Given the description of an element on the screen output the (x, y) to click on. 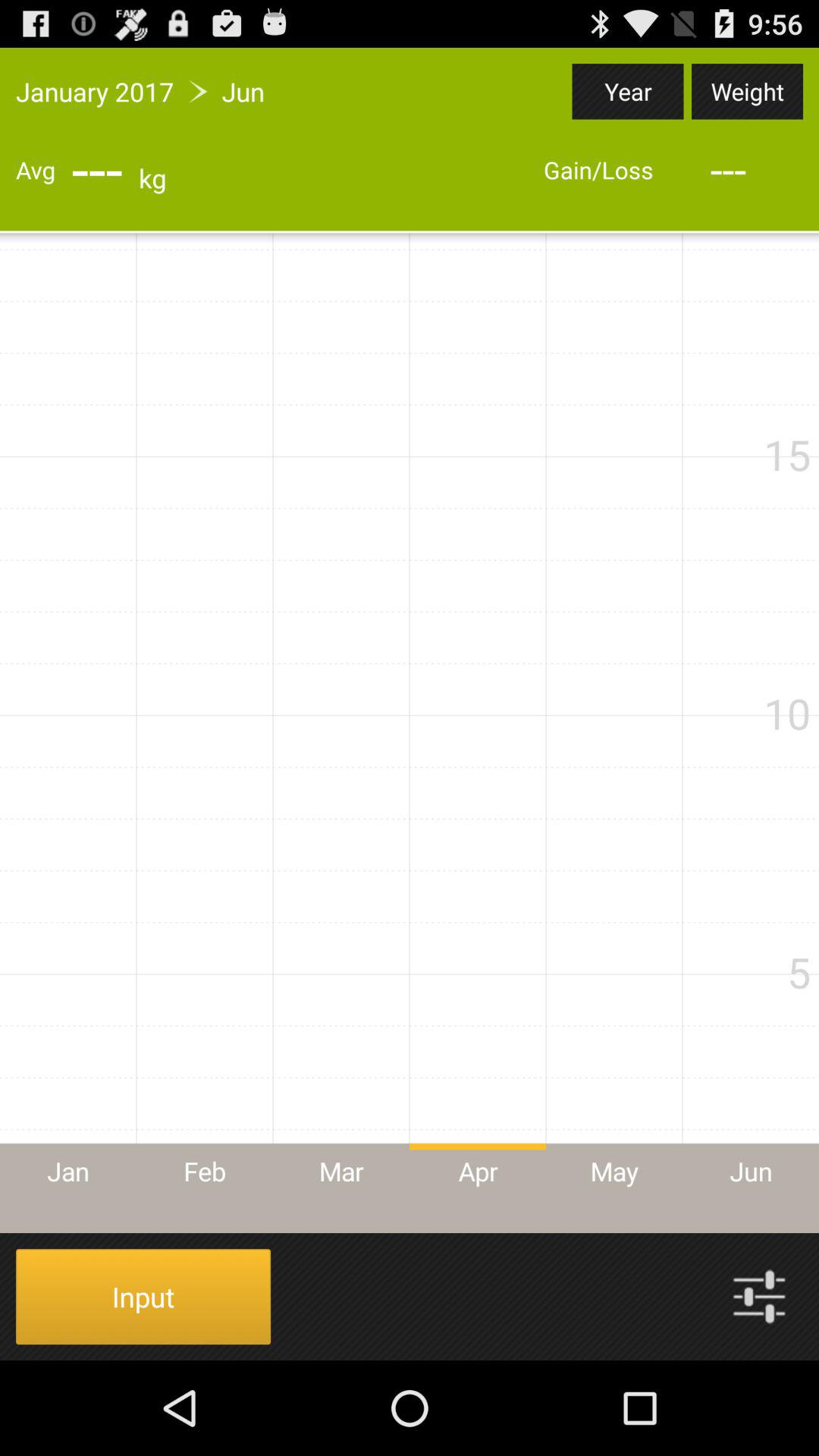
turn on item at the bottom left corner (142, 1296)
